Given the description of an element on the screen output the (x, y) to click on. 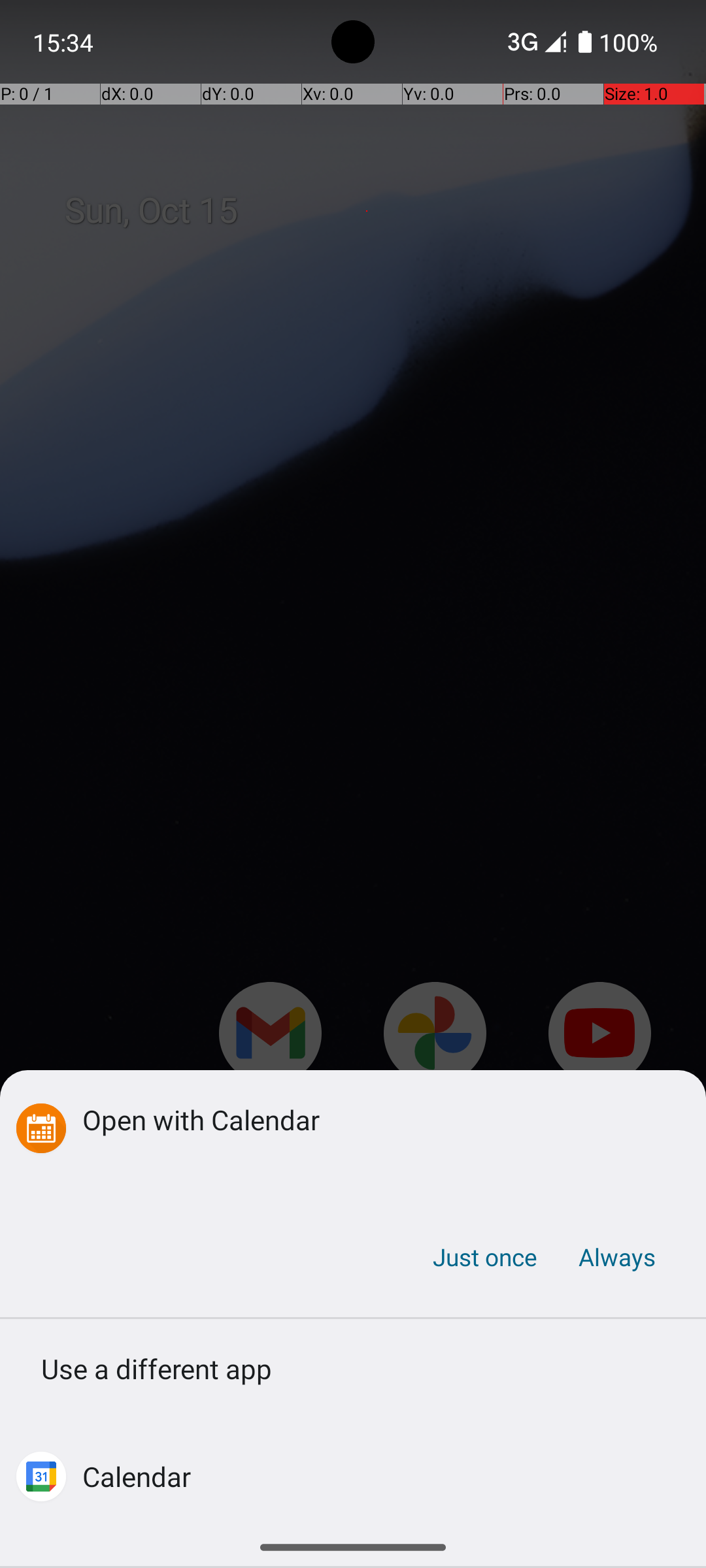
Open with Calendar Element type: android.widget.TextView (373, 1119)
Just once Element type: android.widget.Button (484, 1256)
Always Element type: android.widget.Button (616, 1256)
Use a different app Element type: android.widget.TextView (353, 1373)
Calendar Element type: android.widget.TextView (136, 1475)
